Given the description of an element on the screen output the (x, y) to click on. 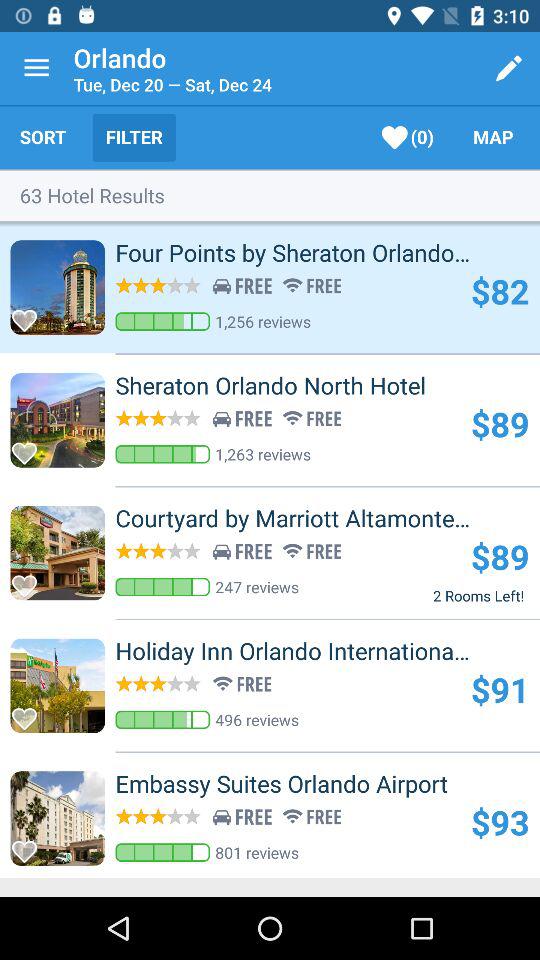
favorite this rental (30, 314)
